Given the description of an element on the screen output the (x, y) to click on. 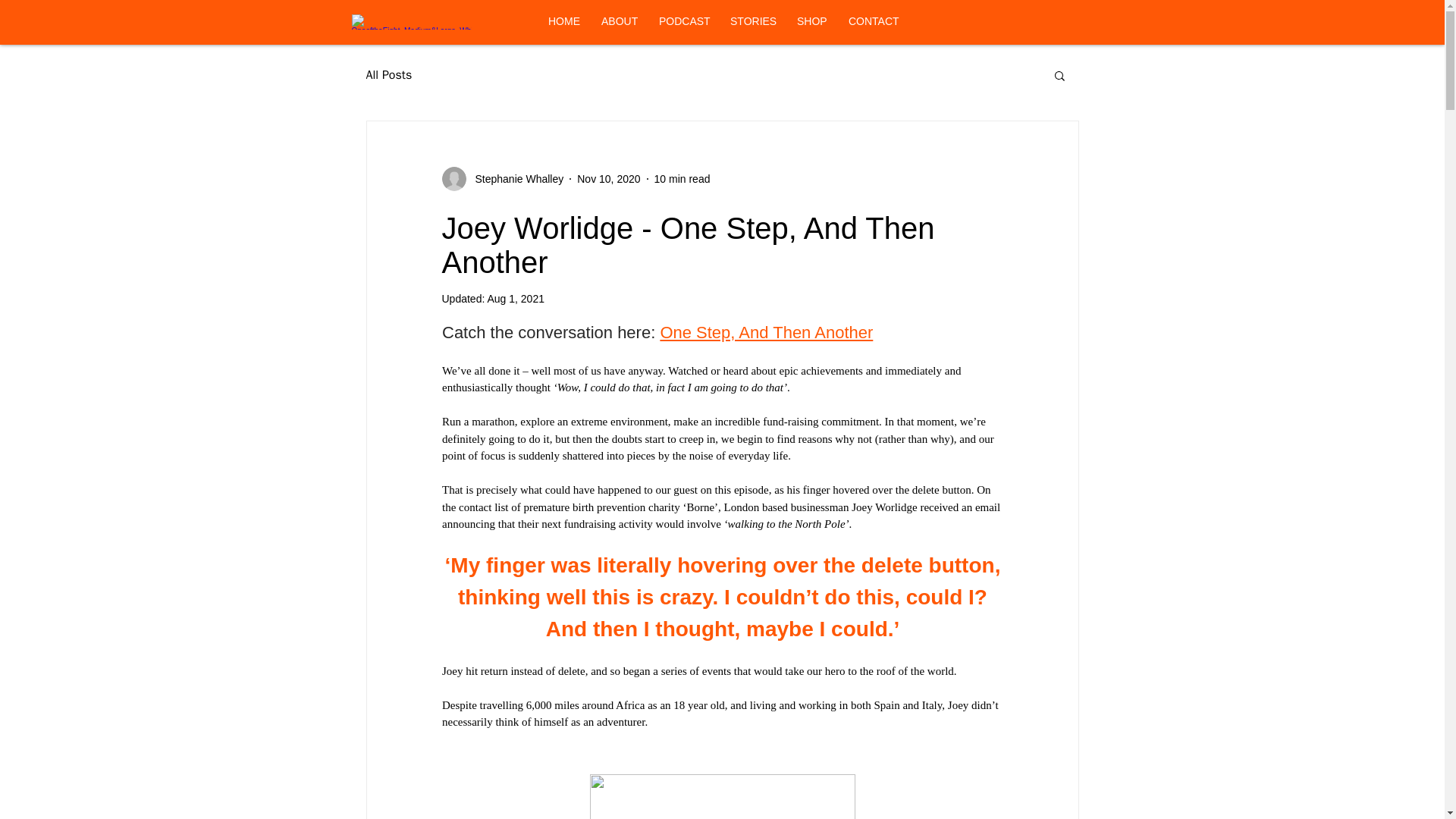
Nov 10, 2020 (608, 178)
Stephanie Whalley (502, 178)
Aug 1, 2021 (515, 298)
One Step, And Then Another (765, 332)
SHOP (811, 21)
10 min read (681, 178)
PODCAST (683, 21)
ABOUT (618, 21)
All Posts (388, 74)
CONTACT (872, 21)
STORIES (752, 21)
HOME (563, 21)
Stephanie Whalley (514, 179)
